Given the description of an element on the screen output the (x, y) to click on. 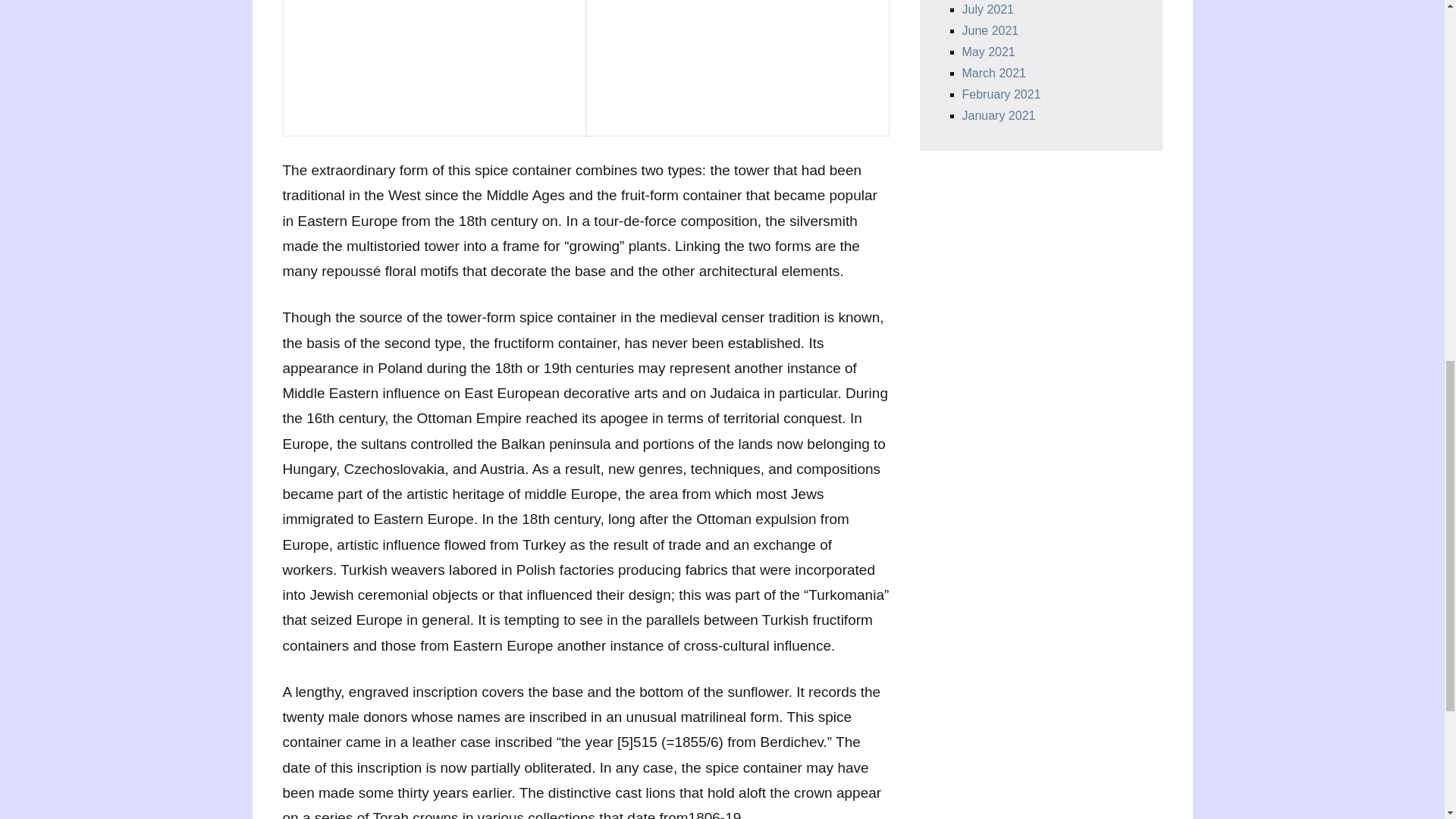
May 2021 (987, 51)
March 2021 (993, 72)
June 2021 (988, 30)
July 2021 (986, 9)
January 2021 (997, 115)
February 2021 (1000, 93)
